Given the description of an element on the screen output the (x, y) to click on. 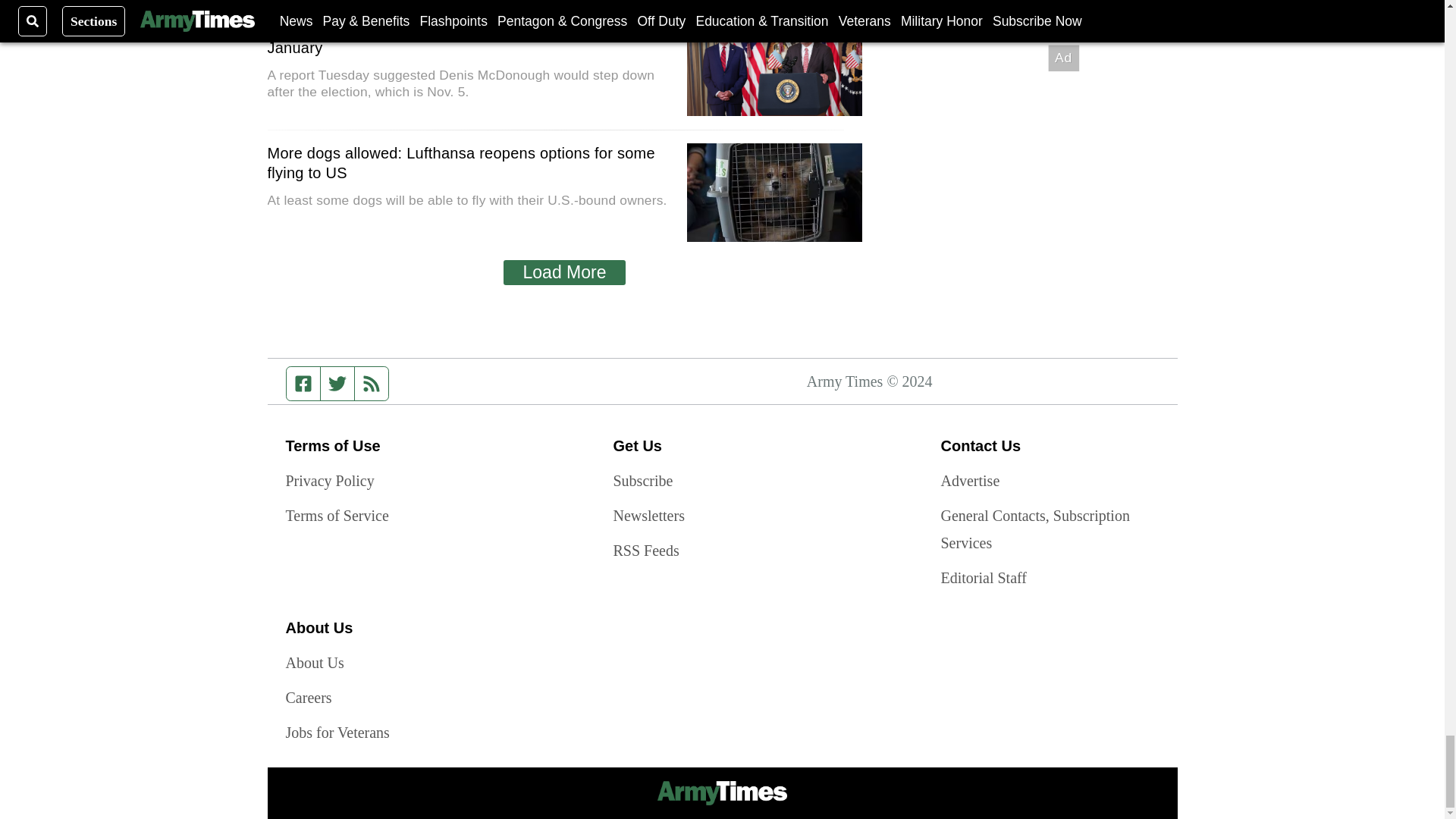
Twitter feed (336, 383)
Facebook page (303, 383)
RSS feed (371, 383)
